Given the description of an element on the screen output the (x, y) to click on. 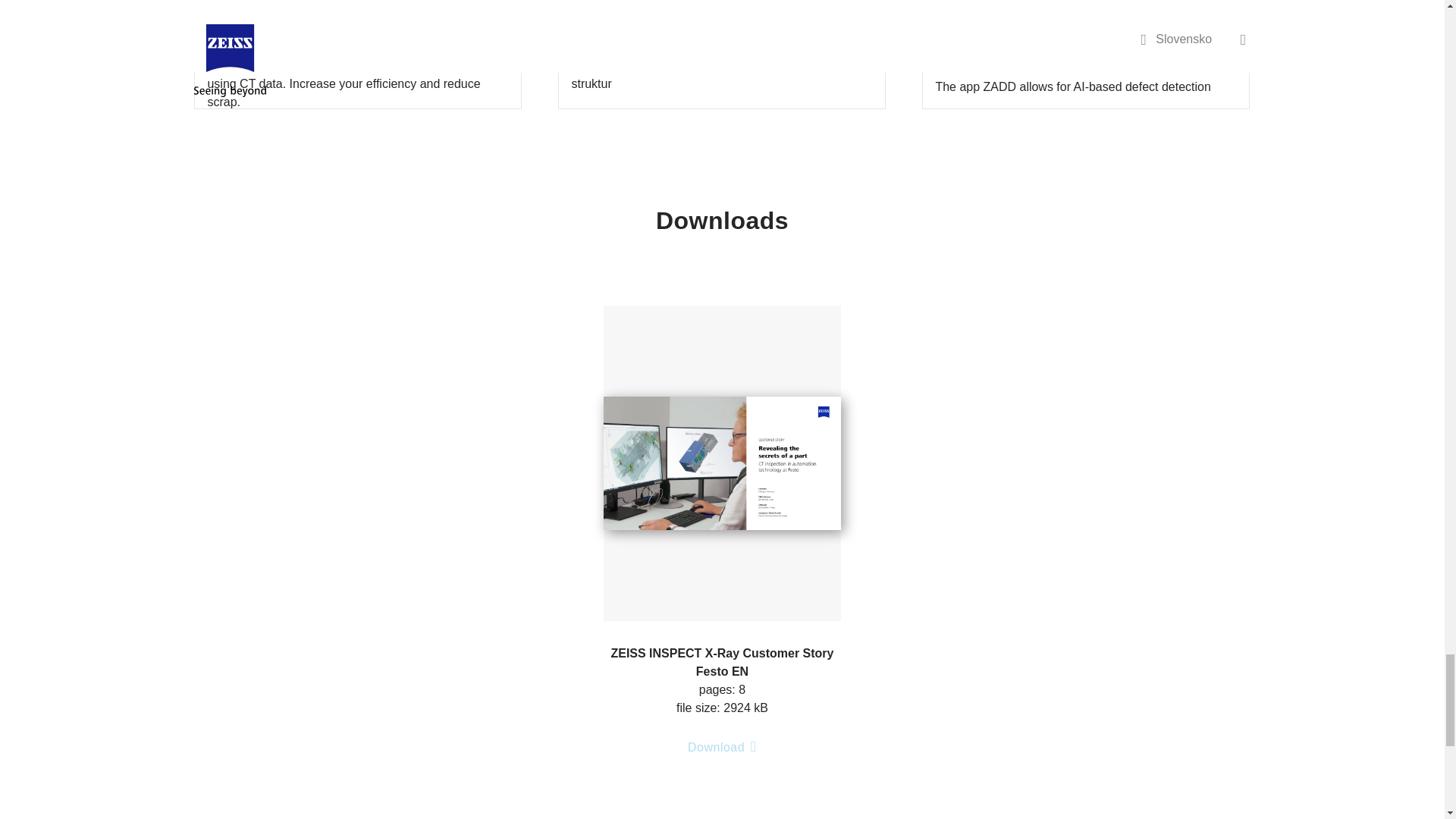
ZEISS INSPECT X-Ray Customer Story Festo EN (722, 462)
Download (722, 753)
Download (722, 747)
